Given the description of an element on the screen output the (x, y) to click on. 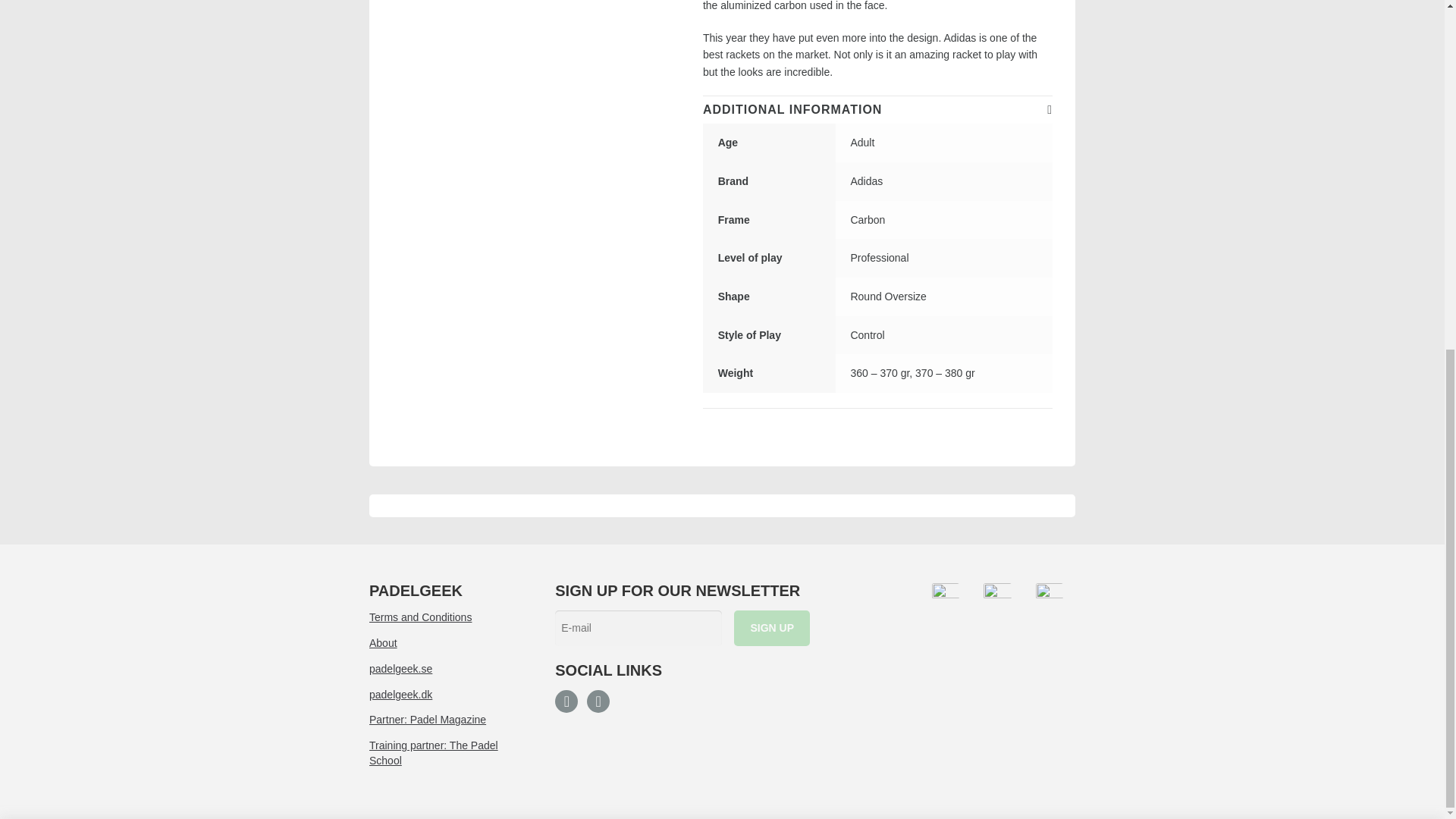
Terms and Conditions (446, 617)
Sign up (771, 628)
Compare Products (809, 251)
ADDITIONAL INFORMATION (877, 109)
COMPARE PRODUCTS (809, 251)
